Given the description of an element on the screen output the (x, y) to click on. 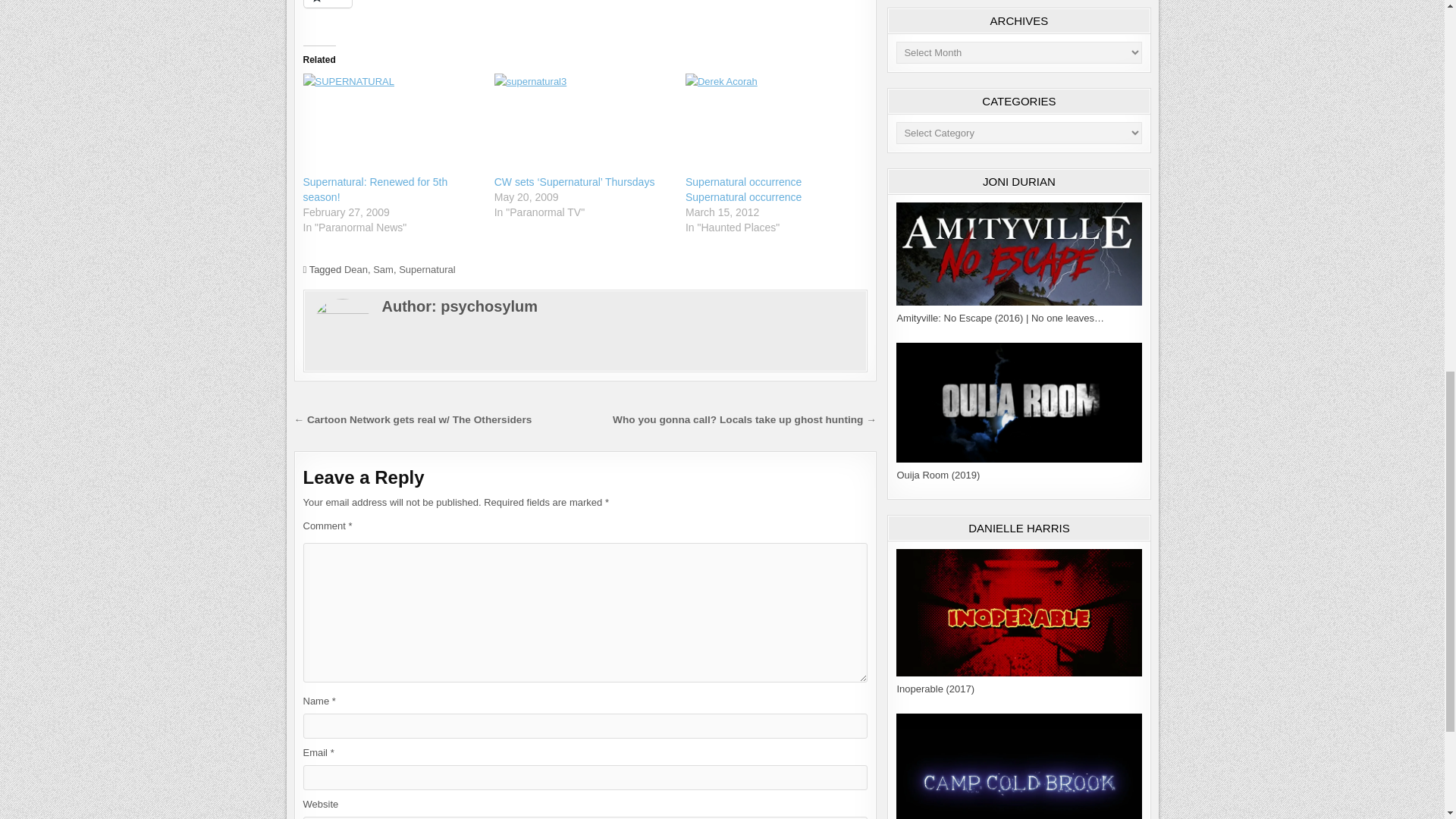
Like or Reblog (584, 12)
Supernatural: Renewed for 5th season! (375, 189)
Supernatural occurrence Supernatural occurrence (773, 123)
Supernatural occurrence Supernatural occurrence (743, 189)
Supernatural: Renewed for 5th season! (390, 123)
